Given the description of an element on the screen output the (x, y) to click on. 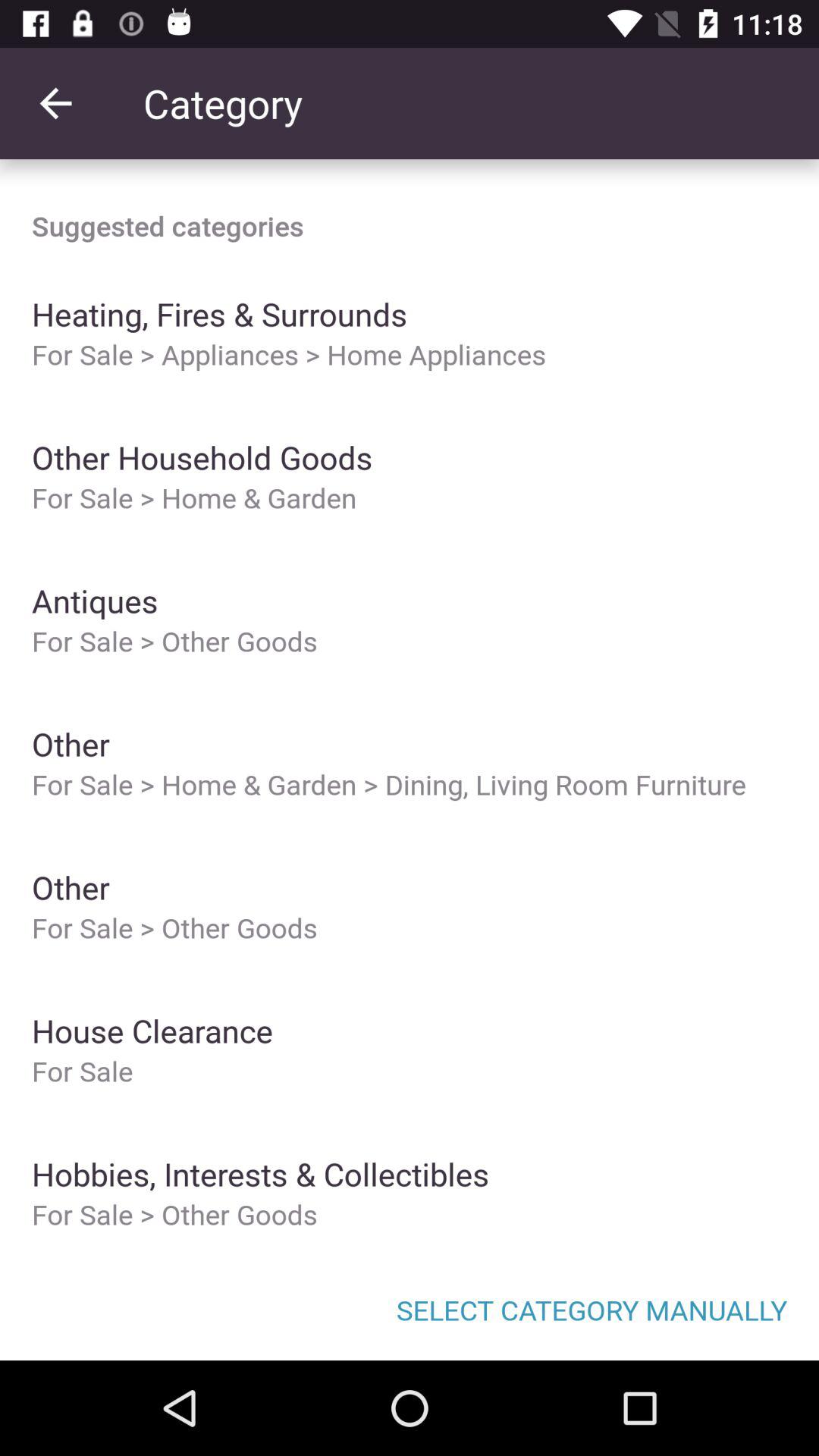
choose item below the for sale other icon (409, 1309)
